Given the description of an element on the screen output the (x, y) to click on. 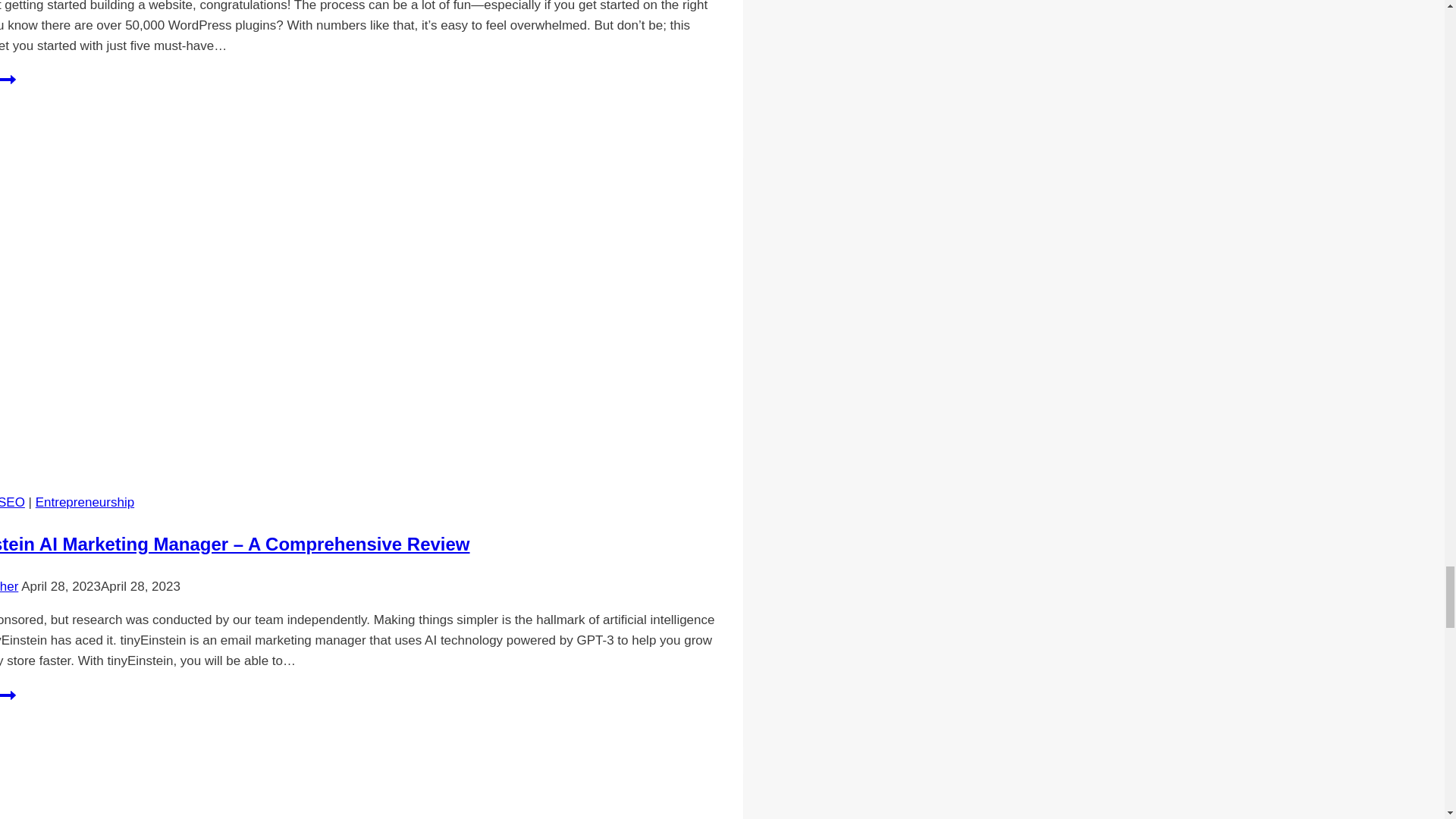
Continue (8, 79)
Continue (8, 694)
